Given the description of an element on the screen output the (x, y) to click on. 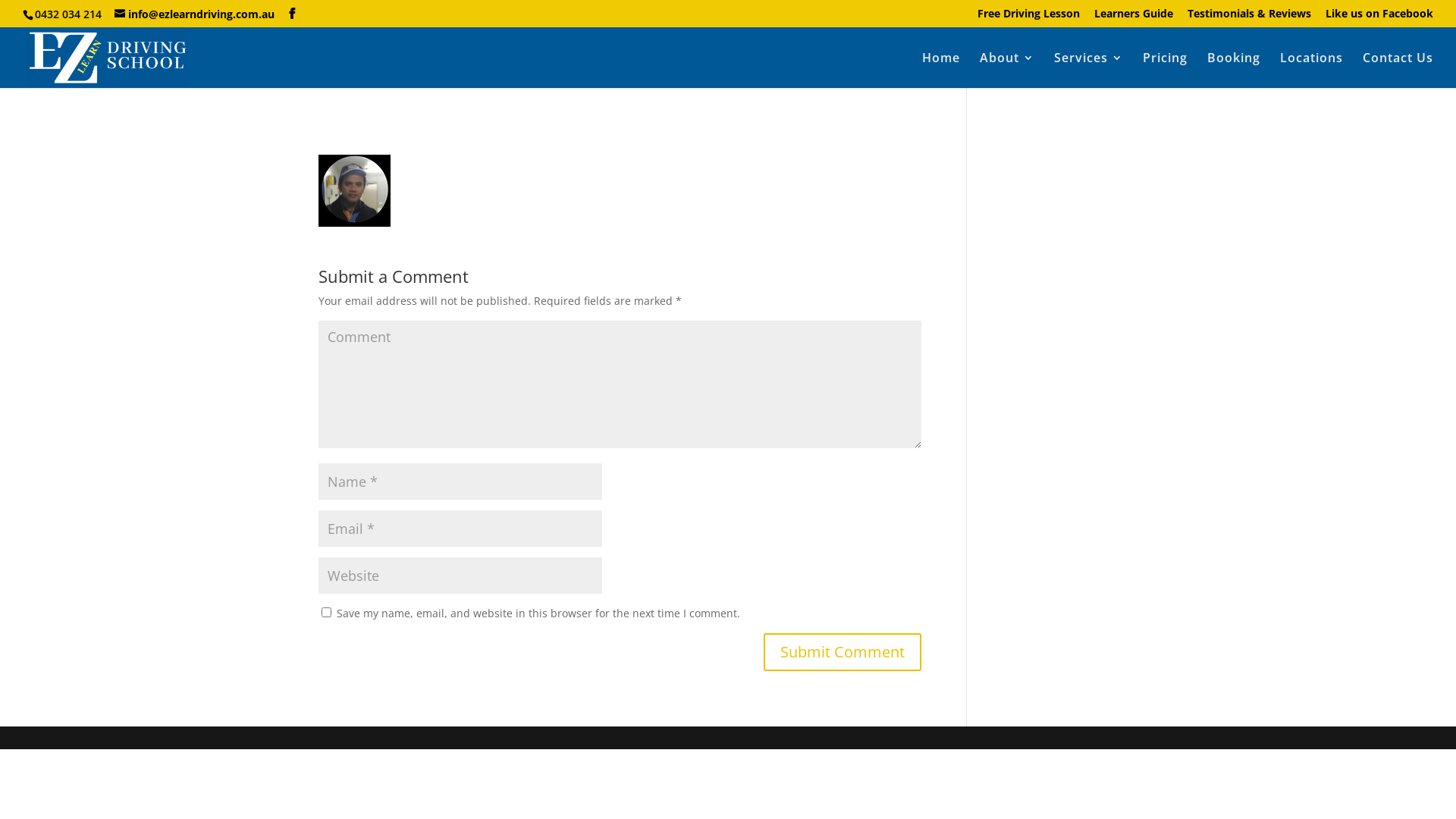
Learners Guide Element type: text (1133, 16)
Contact Us Element type: text (1397, 69)
Services Element type: text (1088, 69)
Pricing Element type: text (1164, 69)
Submit Comment Element type: text (842, 652)
Testimonials & Reviews Element type: text (1249, 16)
Booking Element type: text (1233, 69)
info@ezlearndriving.com.au Element type: text (194, 13)
Free Driving Lesson Element type: text (1028, 16)
About Element type: text (1006, 69)
Locations Element type: text (1311, 69)
Like us on Facebook Element type: text (1379, 16)
Home Element type: text (941, 69)
